Given the description of an element on the screen output the (x, y) to click on. 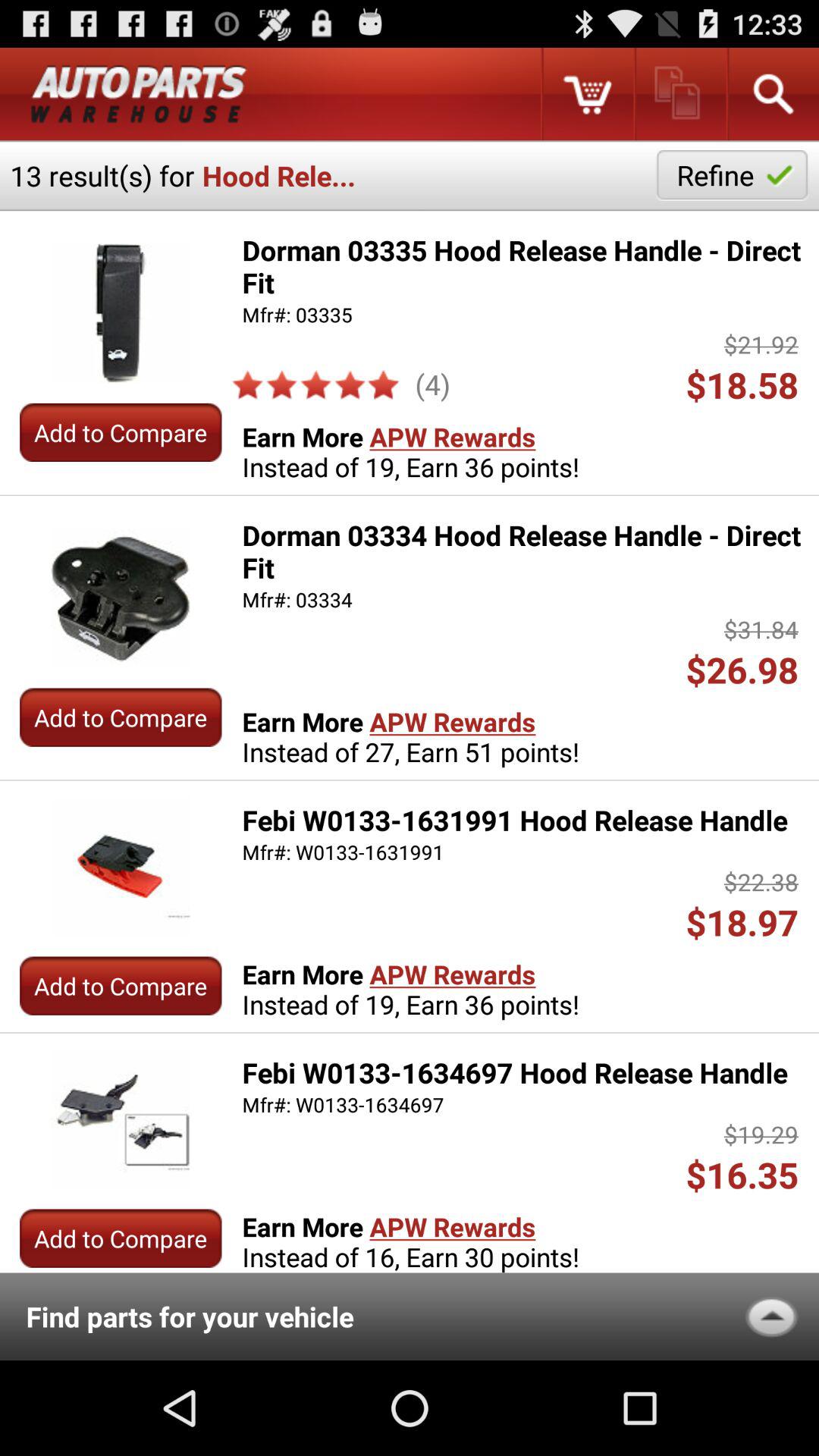
cart (586, 93)
